Given the description of an element on the screen output the (x, y) to click on. 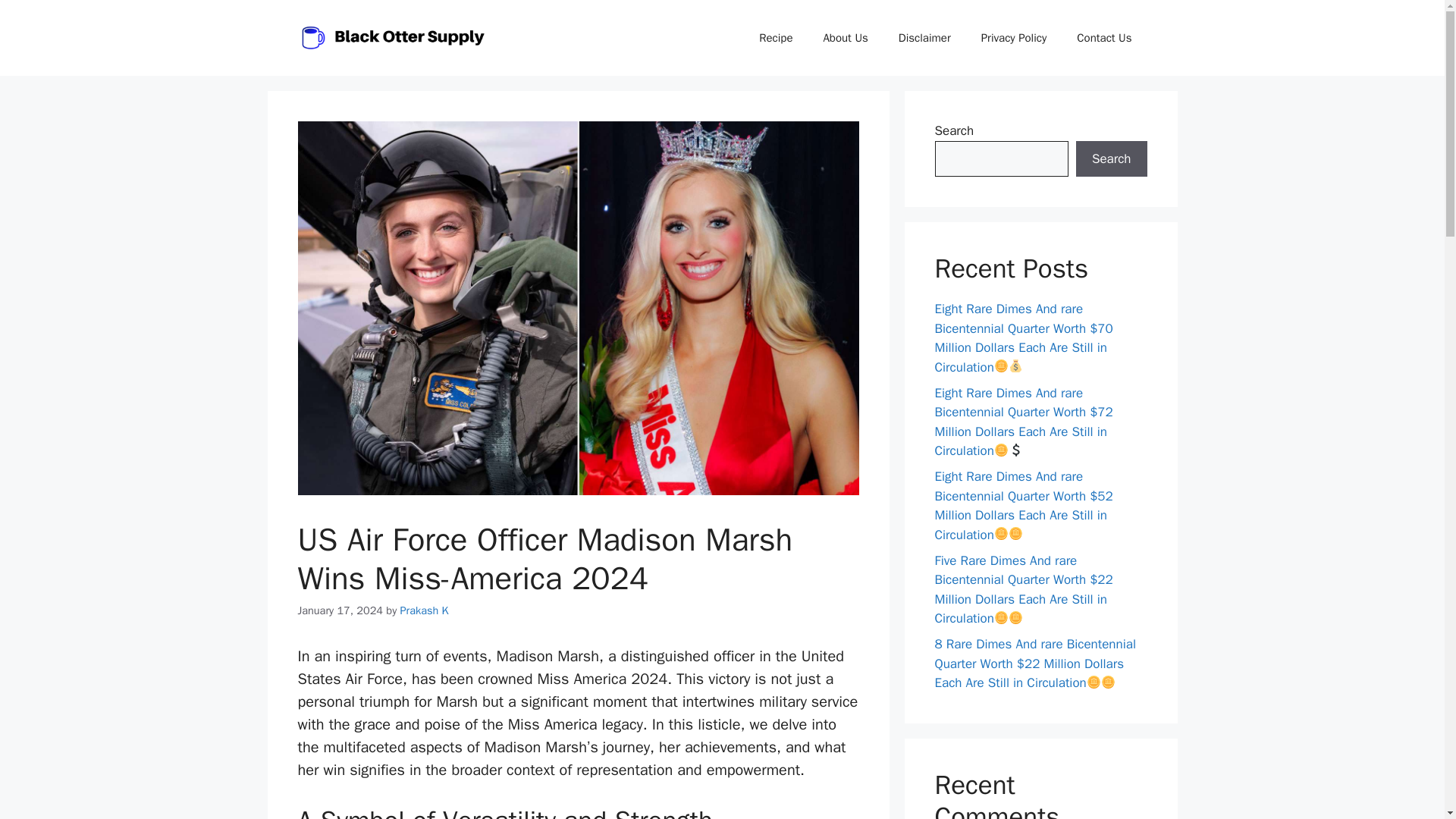
Search (1111, 158)
About Us (845, 37)
Prakash K (424, 610)
Privacy Policy (1014, 37)
Recipe (776, 37)
Disclaimer (924, 37)
Contact Us (1104, 37)
View all posts by Prakash K (424, 610)
